Given the description of an element on the screen output the (x, y) to click on. 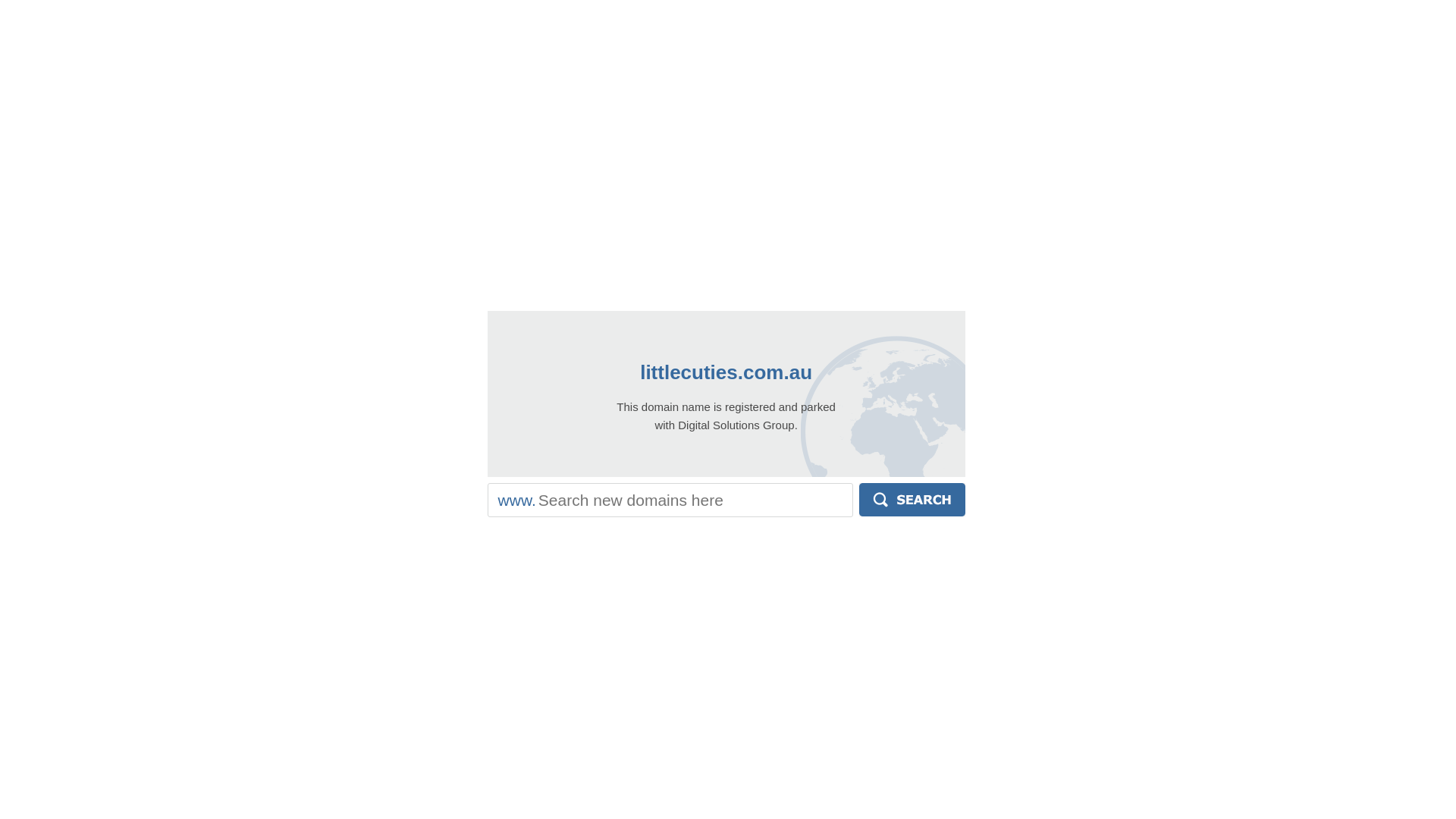
Search Element type: text (912, 499)
